Given the description of an element on the screen output the (x, y) to click on. 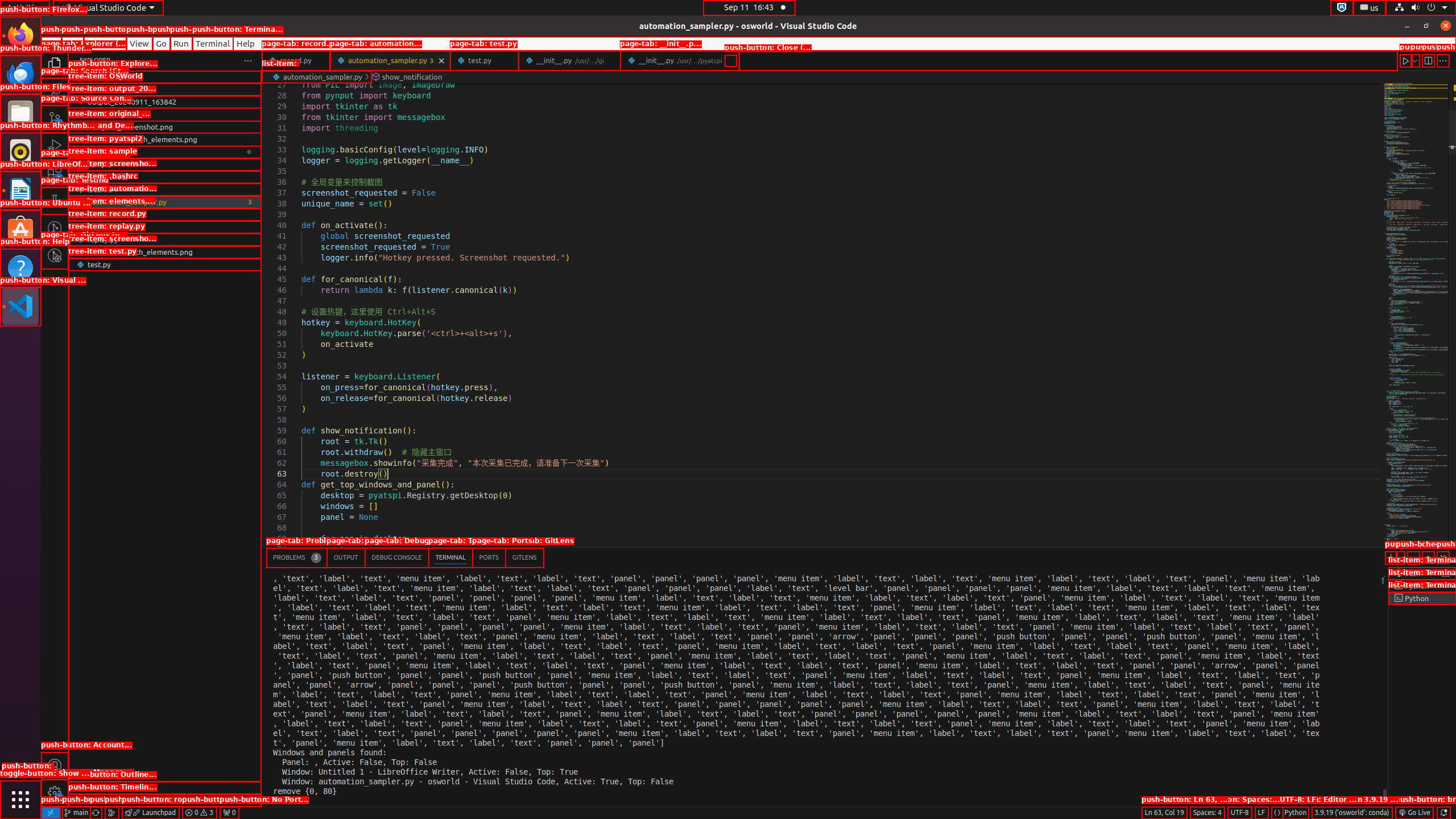
record.py Element type: tree-item (164, 226)
screenshot_with_elements.png Element type: tree-item (164, 251)
pyatspi2 Element type: tree-item (164, 151)
Terminal 2 Python Element type: list-item (1422, 585)
Ln 63, Col 19 Element type: push-button (1163, 812)
